Given the description of an element on the screen output the (x, y) to click on. 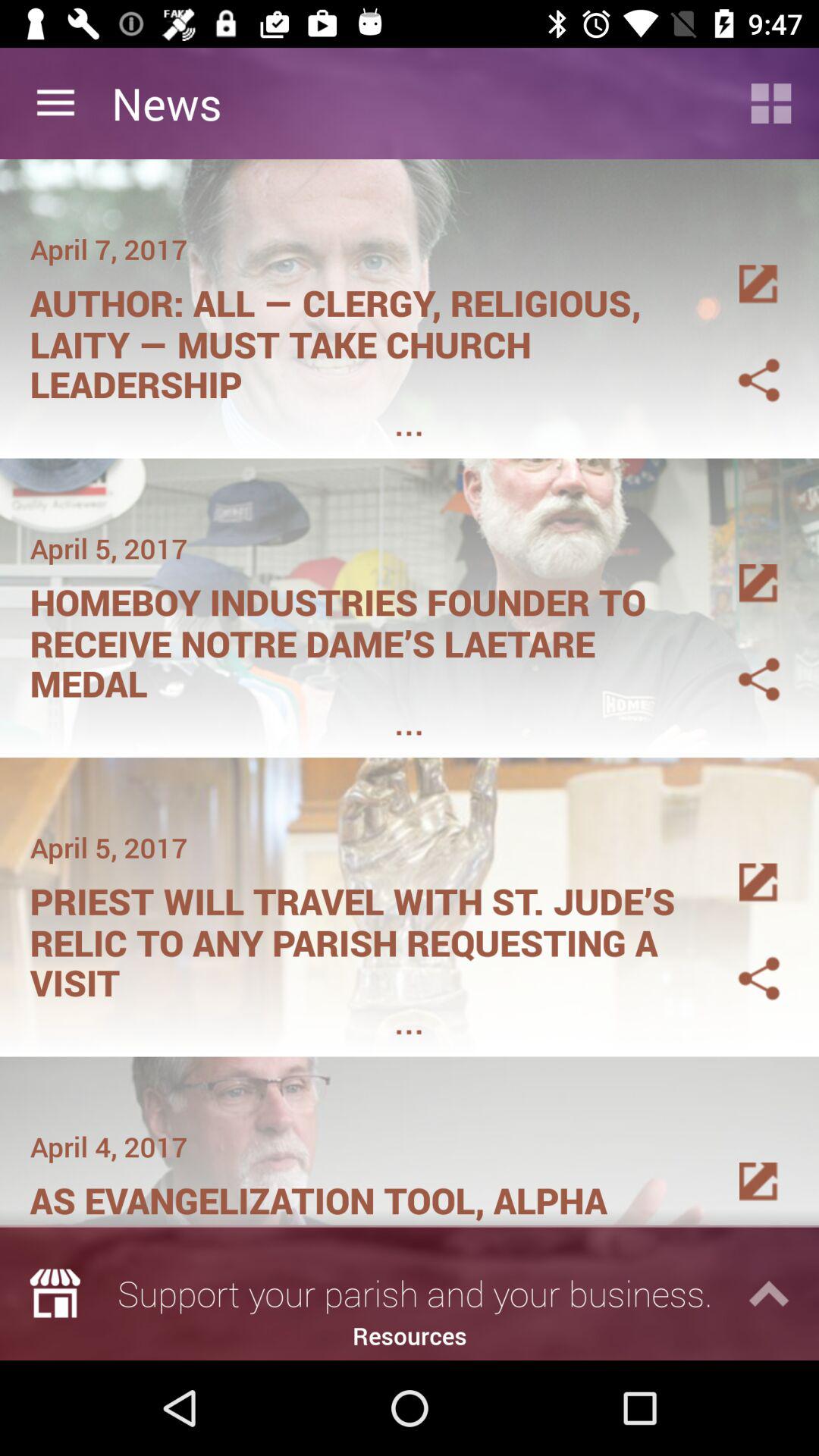
share the article (740, 362)
